Given the description of an element on the screen output the (x, y) to click on. 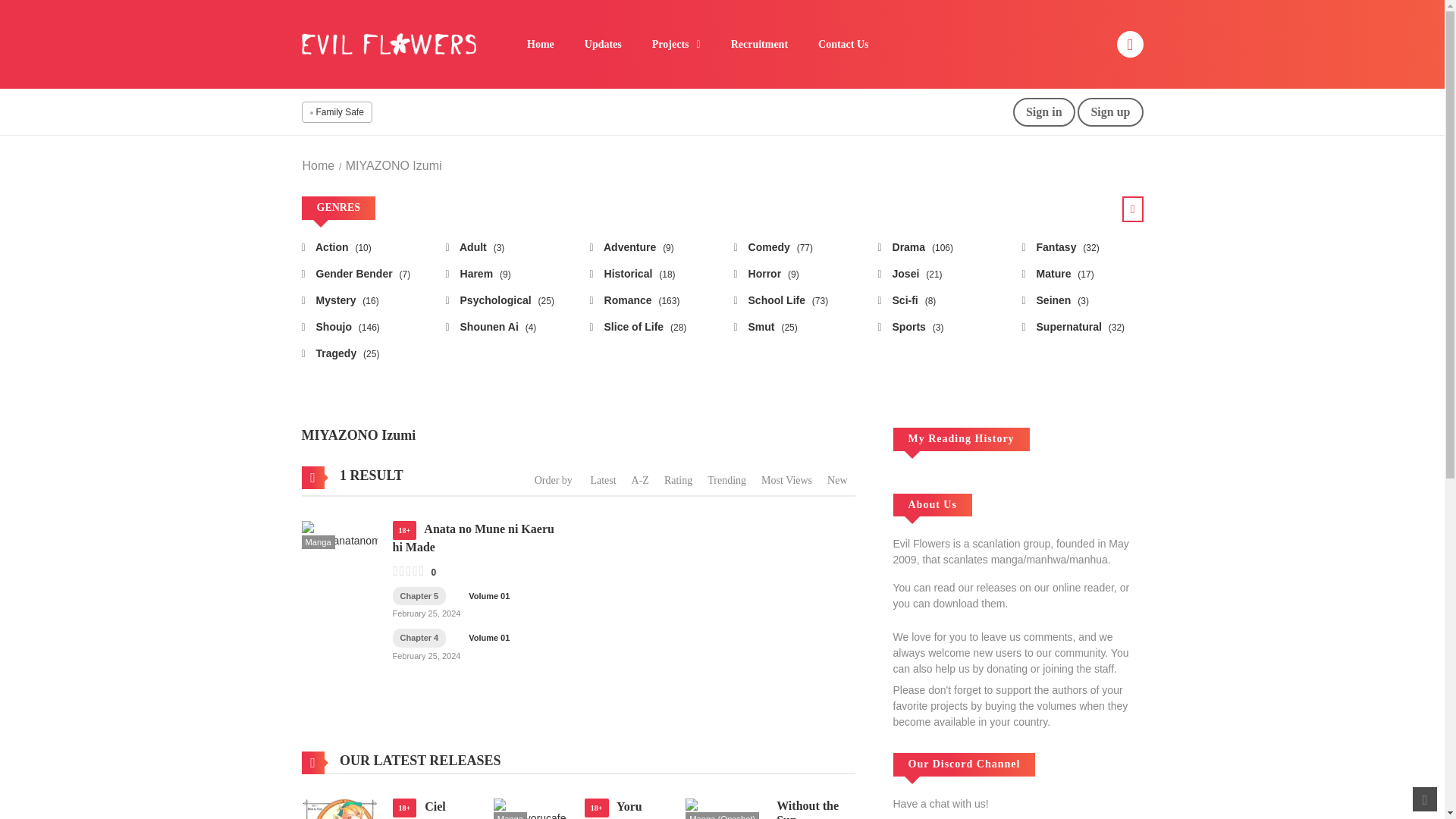
Anata no Mune ni Kaeru hi Made (339, 534)
Without the Sun (723, 811)
Family Safe (335, 112)
Evil Flowers (388, 42)
Projects (676, 44)
Home (317, 164)
Search (970, 9)
Sign up (1109, 111)
Home (540, 44)
Contact Us (843, 44)
Updates (603, 44)
Sign in (1044, 111)
Recruitment (759, 44)
Family Safe (335, 112)
MIYAZONO Izumi (394, 164)
